Given the description of an element on the screen output the (x, y) to click on. 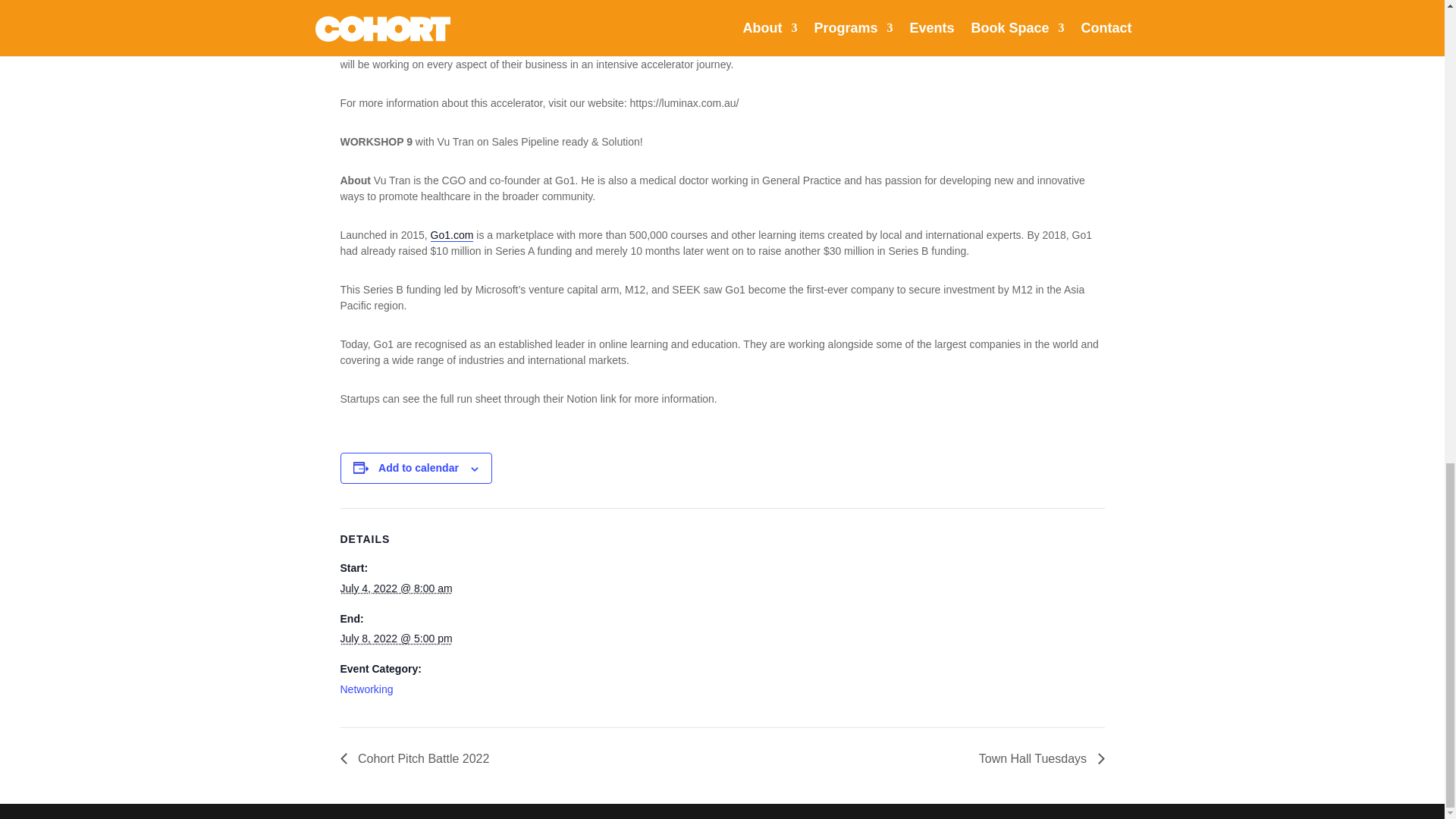
Networking (366, 689)
2022-07-04 (395, 588)
Town Hall Tuesdays (1038, 758)
2022-07-08 (395, 638)
Add to calendar (418, 467)
Go1.com (452, 235)
Cohort Pitch Battle 2022 (418, 758)
